Given the description of an element on the screen output the (x, y) to click on. 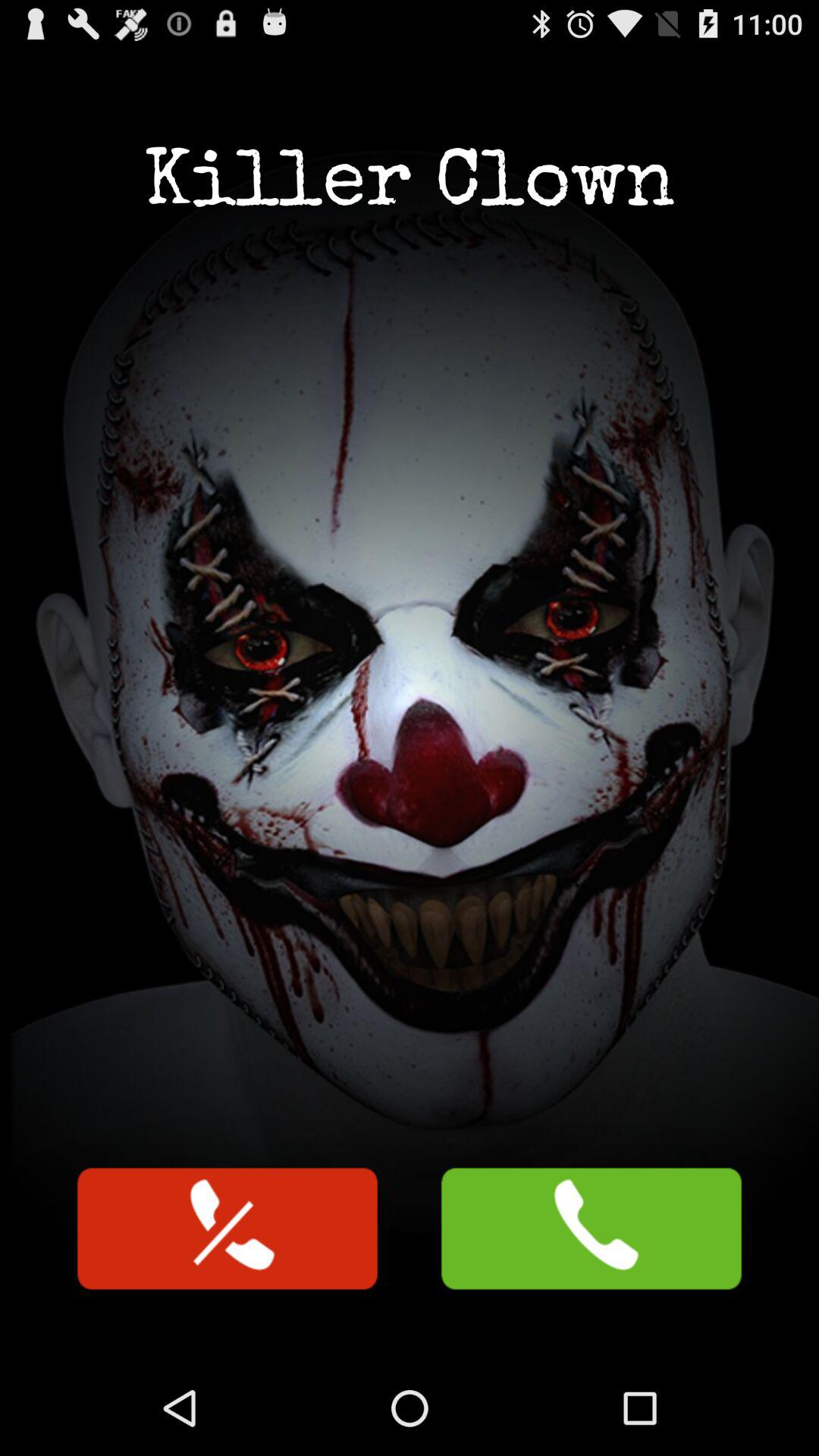
go to phone (227, 1228)
